Given the description of an element on the screen output the (x, y) to click on. 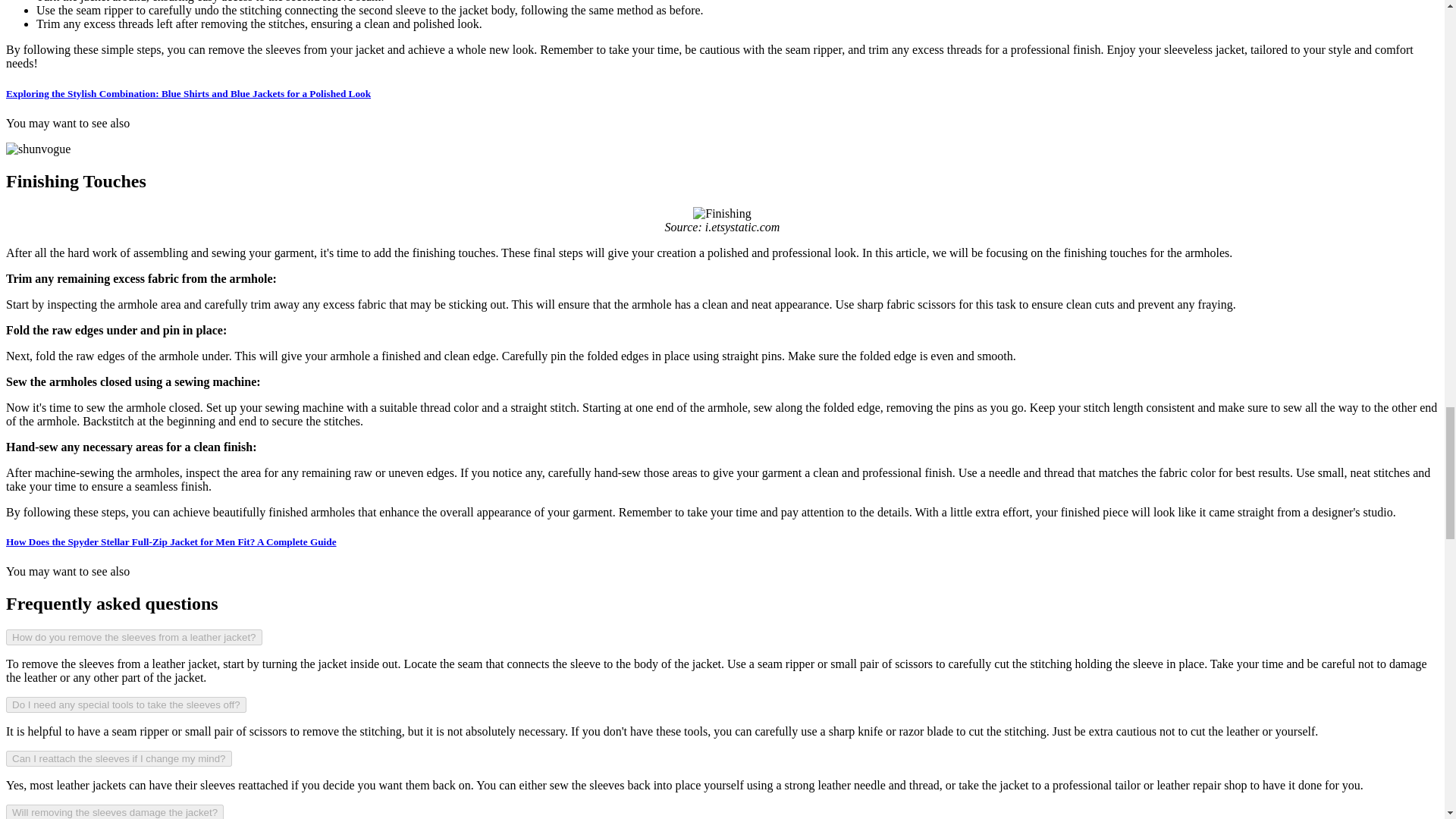
Can I reattach the sleeves if I change my mind? (118, 758)
Will removing the sleeves damage the jacket? (114, 811)
Do I need any special tools to take the sleeves off? (125, 704)
How do you remove the sleeves from a leather jacket? (133, 637)
